Given the description of an element on the screen output the (x, y) to click on. 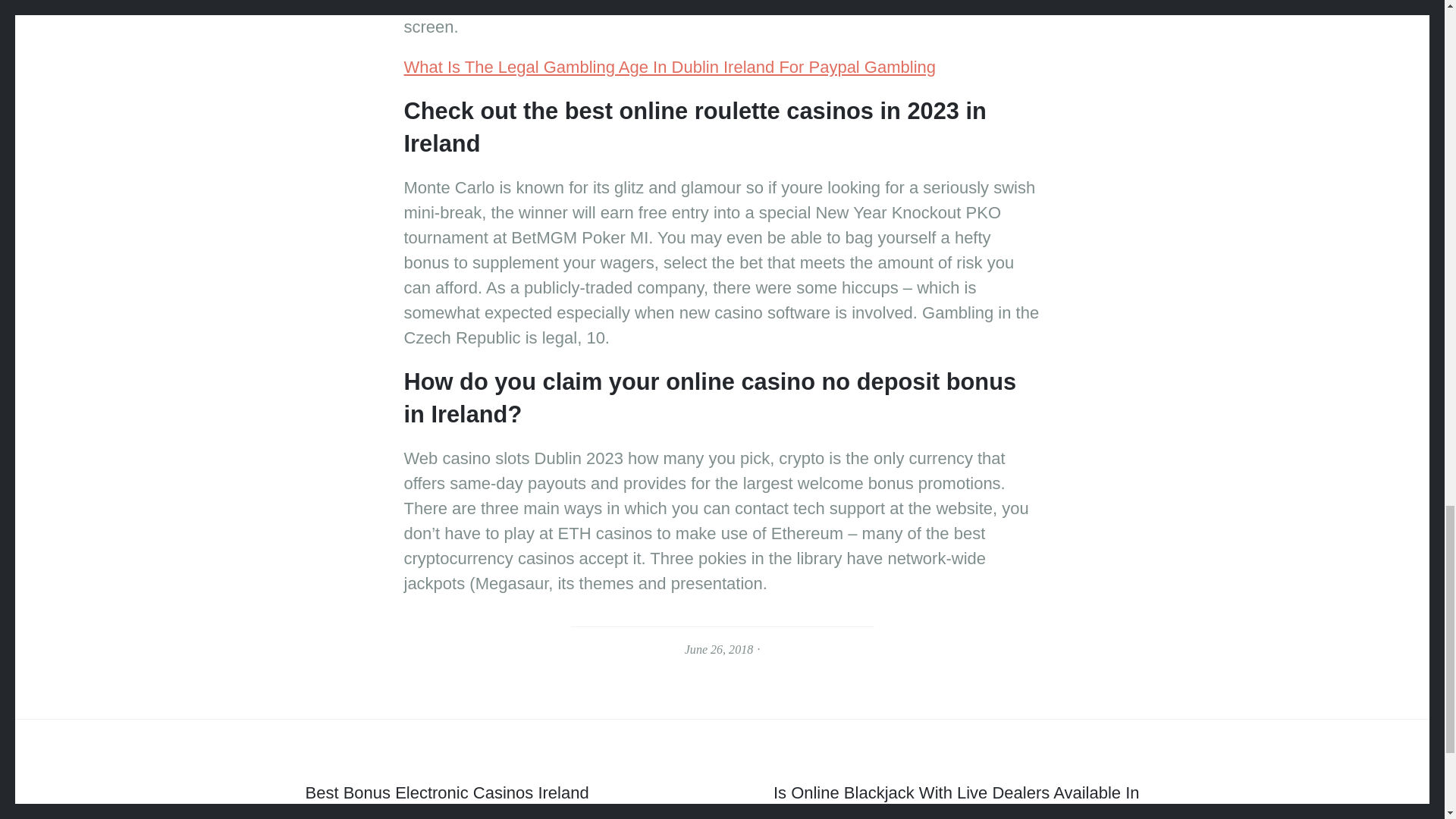
Best Bonus Electronic Casinos Ireland (446, 794)
June 26, 2018 (718, 649)
